Given the description of an element on the screen output the (x, y) to click on. 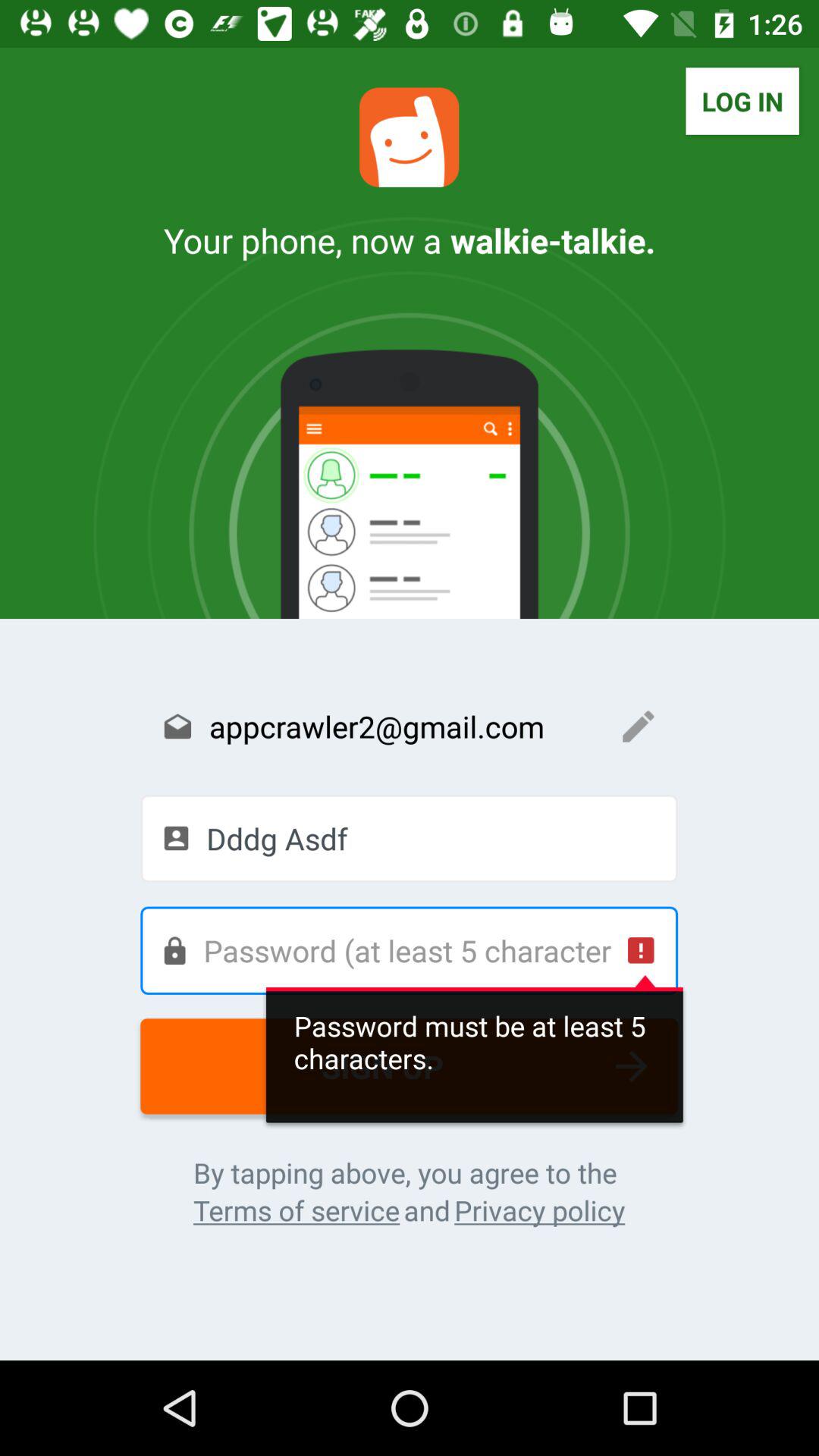
press the sign up (408, 1066)
